Given the description of an element on the screen output the (x, y) to click on. 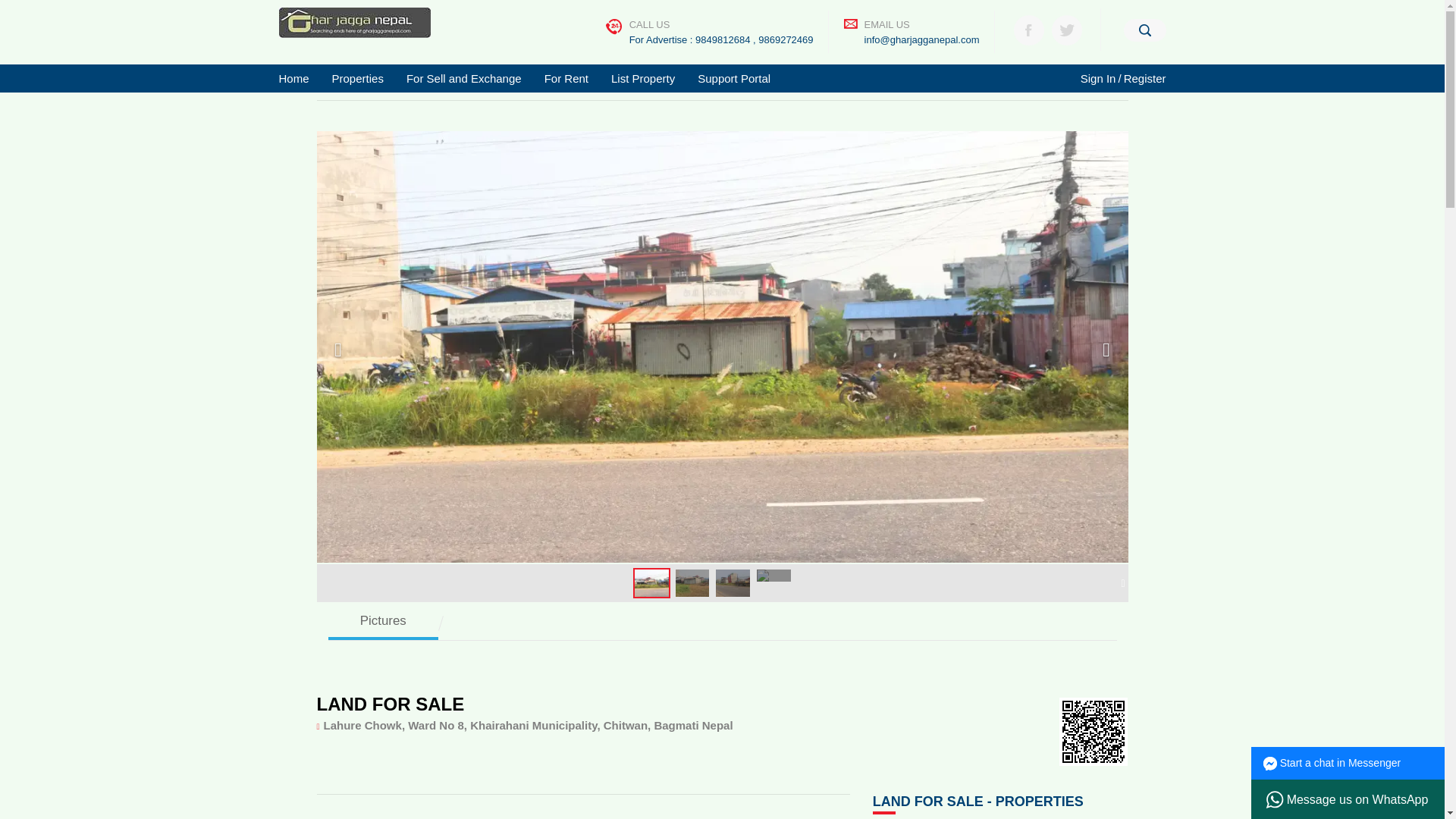
For Rent (565, 78)
For Advertise : 9849812684 , 9869272469 (720, 39)
List Property (642, 78)
Support Portal (733, 78)
Properties (357, 78)
QR Code (1092, 731)
Home (299, 78)
For Sell and Exchange (463, 78)
Sign In (1098, 78)
